Given the description of an element on the screen output the (x, y) to click on. 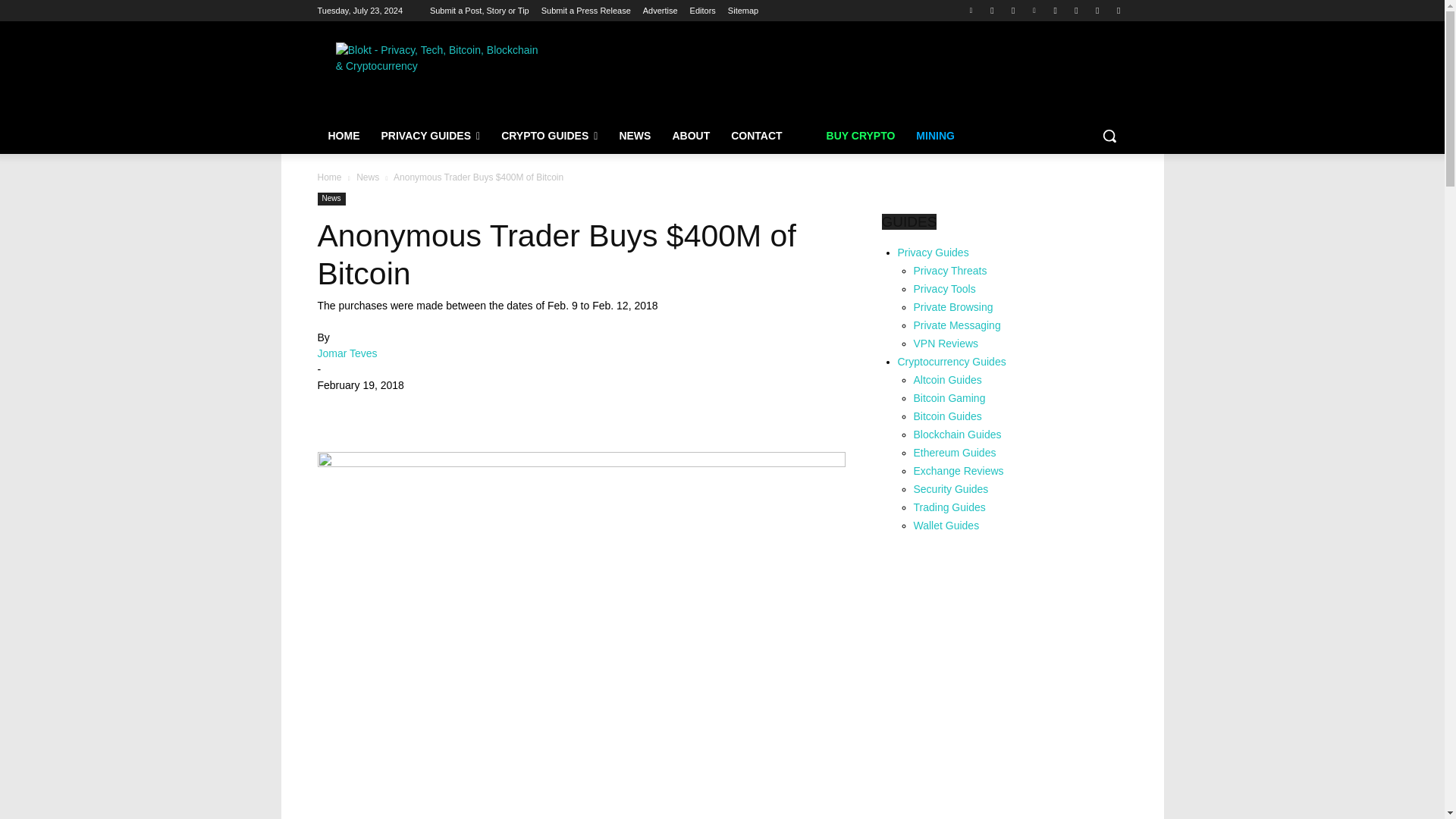
Facebook (992, 9)
Telegram (1013, 9)
Sitemap (743, 10)
Twitter (970, 9)
Youtube (1055, 9)
Reddit (1097, 9)
Editors (703, 10)
Instagram (1075, 9)
Advertise (660, 10)
Linkedin (1034, 9)
Submit a Press Release (585, 10)
Submit a Post, Story or Tip (479, 10)
